Given the description of an element on the screen output the (x, y) to click on. 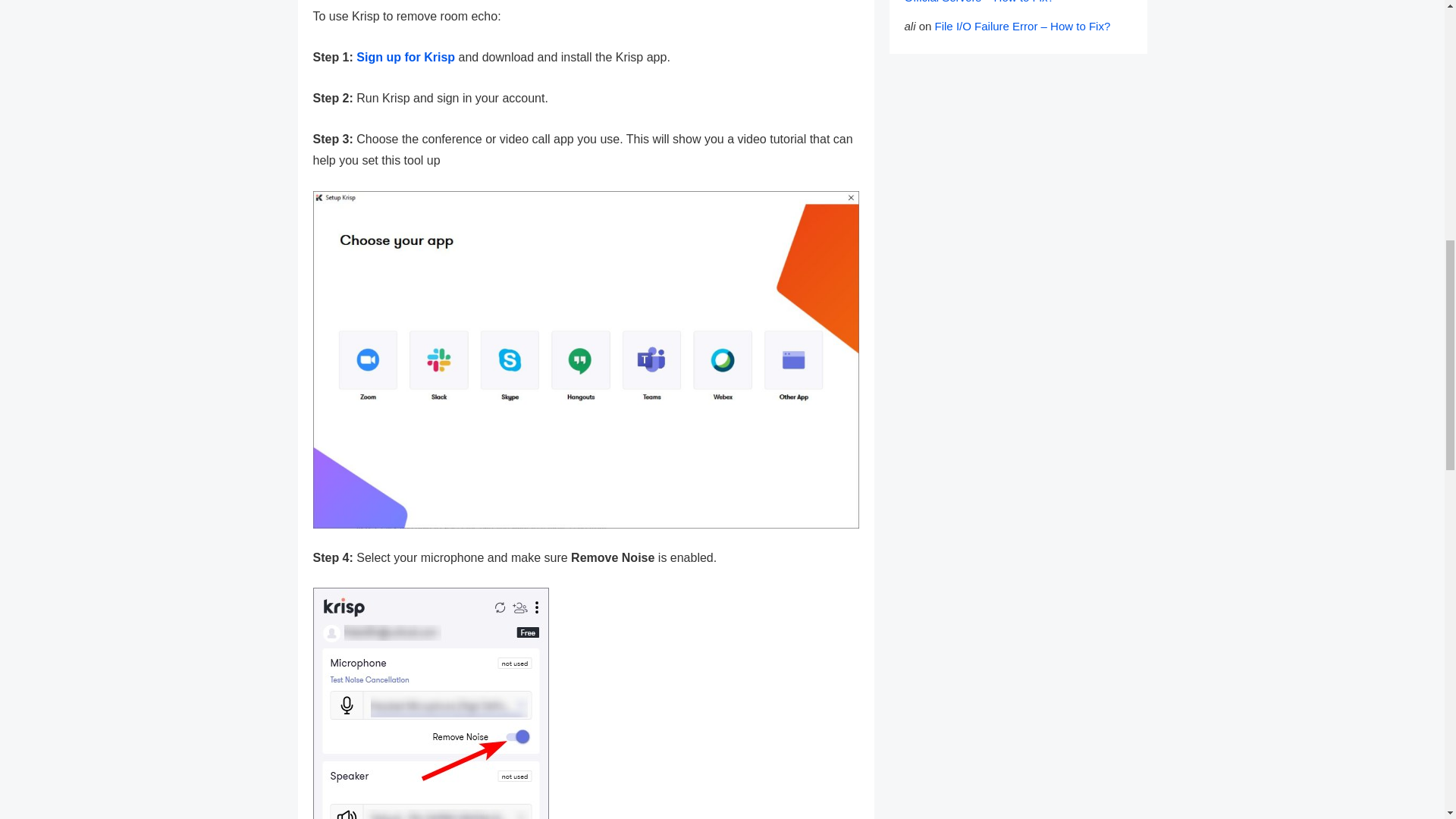
Sign up for Krisp (405, 56)
